Given the description of an element on the screen output the (x, y) to click on. 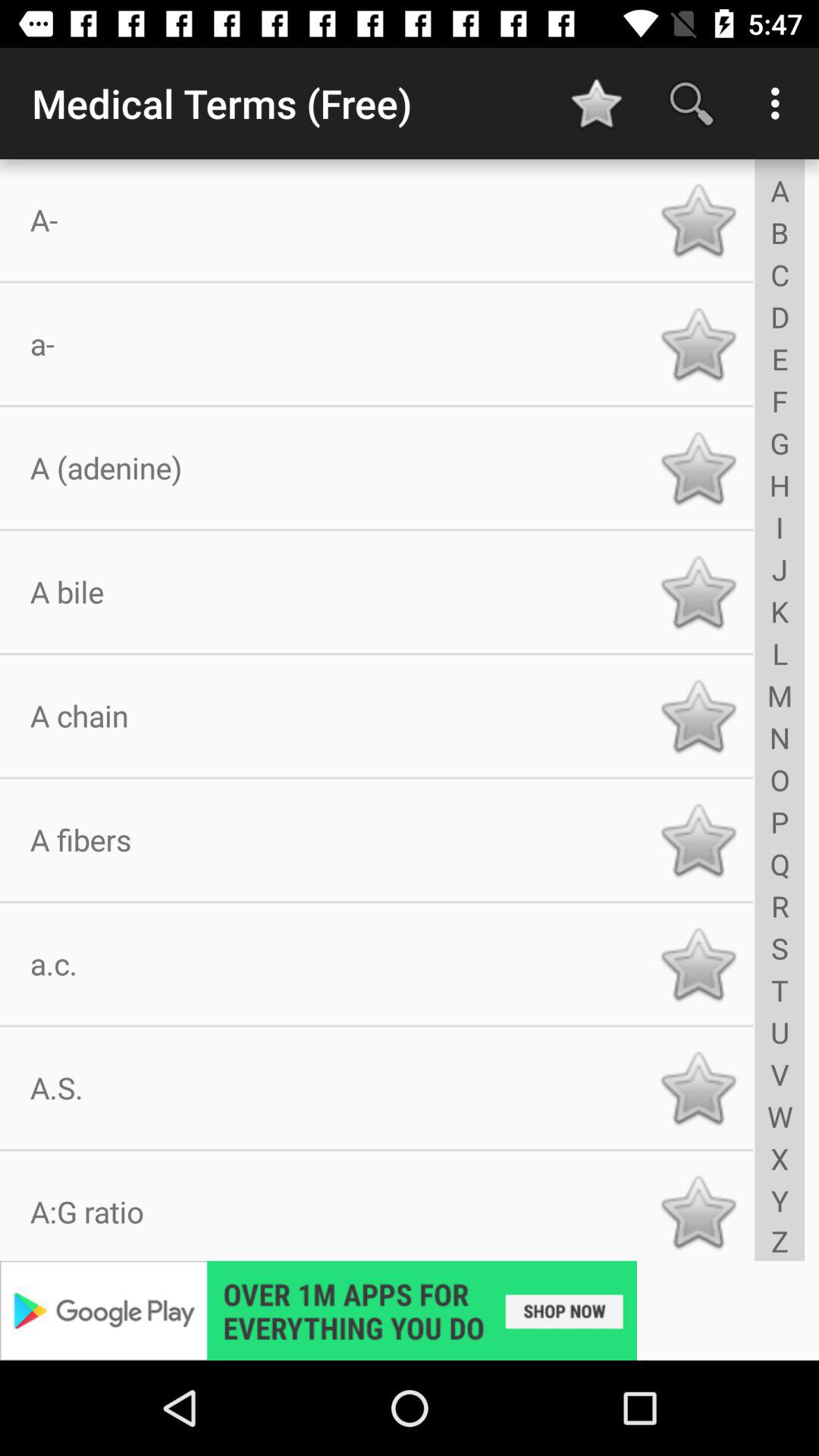
favourite option (697, 1087)
